Given the description of an element on the screen output the (x, y) to click on. 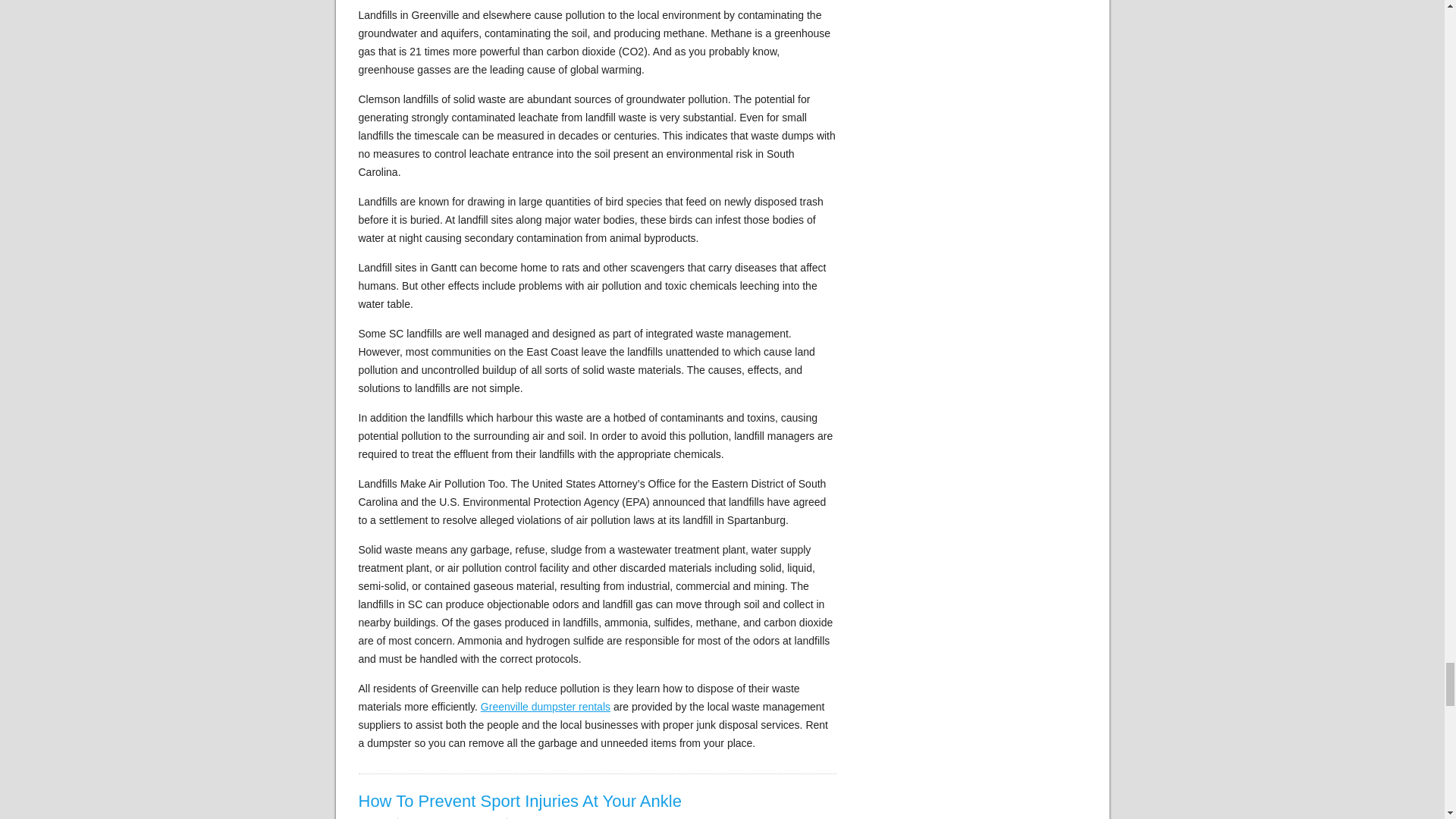
Posts by admin (378, 818)
